Given the description of an element on the screen output the (x, y) to click on. 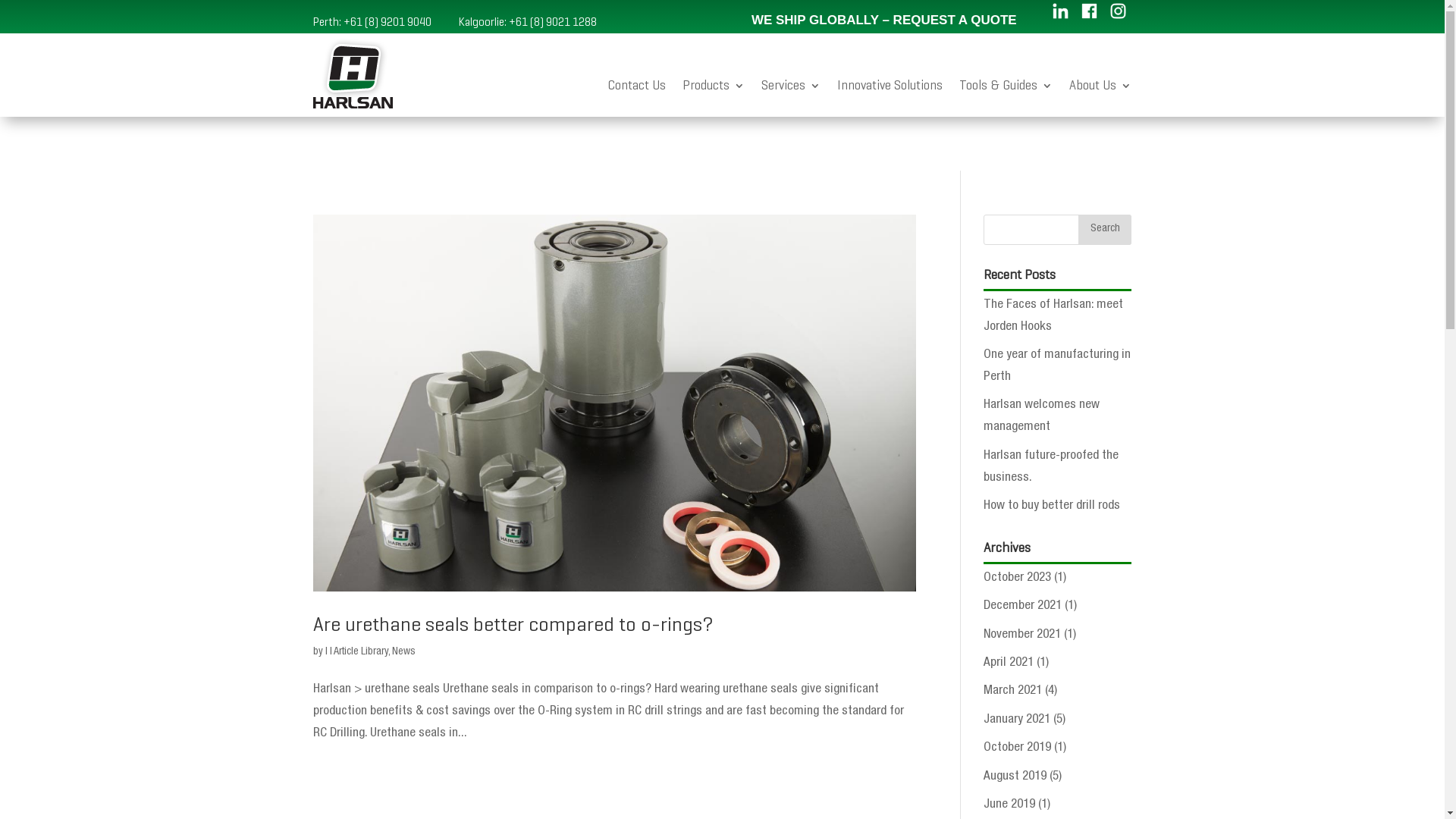
About Us Element type: text (1100, 88)
One year of manufacturing in Perth Element type: text (1056, 365)
News Element type: text (402, 651)
October 2019 Element type: text (1017, 747)
December 2021 Element type: text (1022, 605)
Contact Us Element type: text (636, 88)
January 2021 Element type: text (1016, 719)
The Faces of Harlsan: meet Jorden Hooks Element type: text (1053, 315)
August 2019 Element type: text (1014, 776)
Harlsan future-proofed the business. Element type: text (1050, 466)
Innovative Solutions Element type: text (889, 88)
April 2021 Element type: text (1008, 662)
+61 (8) 9201 9040 Element type: text (386, 21)
+61 (8) 9021 1288 Element type: text (552, 21)
Search Element type: text (1104, 229)
Are urethane seals better compared to o-rings? Element type: text (512, 623)
October 2023 Element type: text (1017, 577)
Products Element type: text (713, 88)
June 2019 Element type: text (1009, 804)
November 2021 Element type: text (1021, 634)
March 2021 Element type: text (1012, 690)
Tools & Guides Element type: text (1005, 88)
How to buy better drill rods Element type: text (1051, 505)
Services Element type: text (790, 88)
Harlsan welcomes new management Element type: text (1041, 415)
Article Library Element type: text (360, 651)
